Given the description of an element on the screen output the (x, y) to click on. 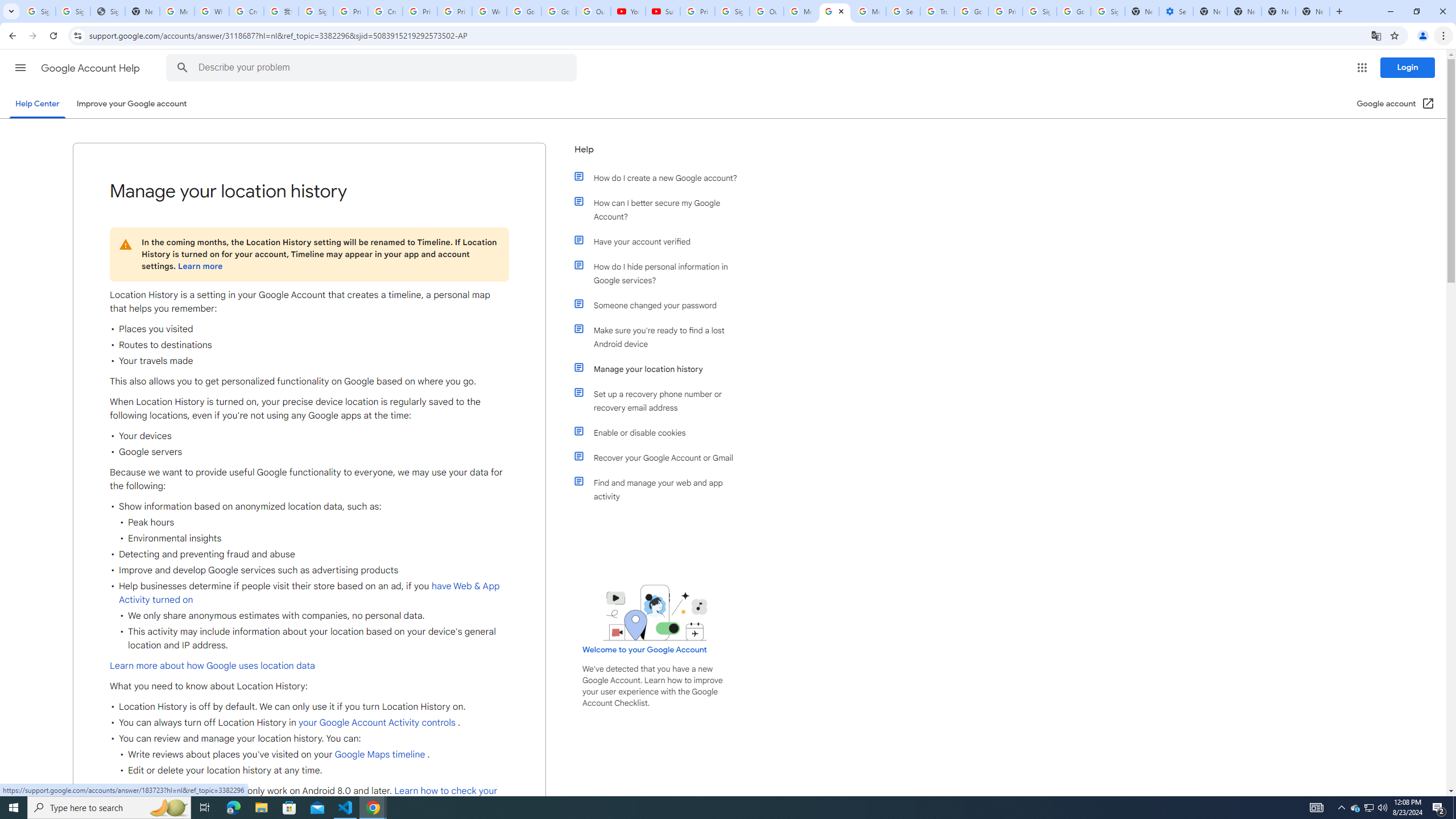
Make sure you're ready to find a lost Android device (661, 336)
YouTube (627, 11)
New Tab (1209, 11)
Sign in - Google Accounts (315, 11)
Login (1407, 67)
Google Account (Opens in new window) (1395, 103)
Sign in - Google Accounts (73, 11)
Improve your Google account (131, 103)
Describe your problem (373, 67)
